Given the description of an element on the screen output the (x, y) to click on. 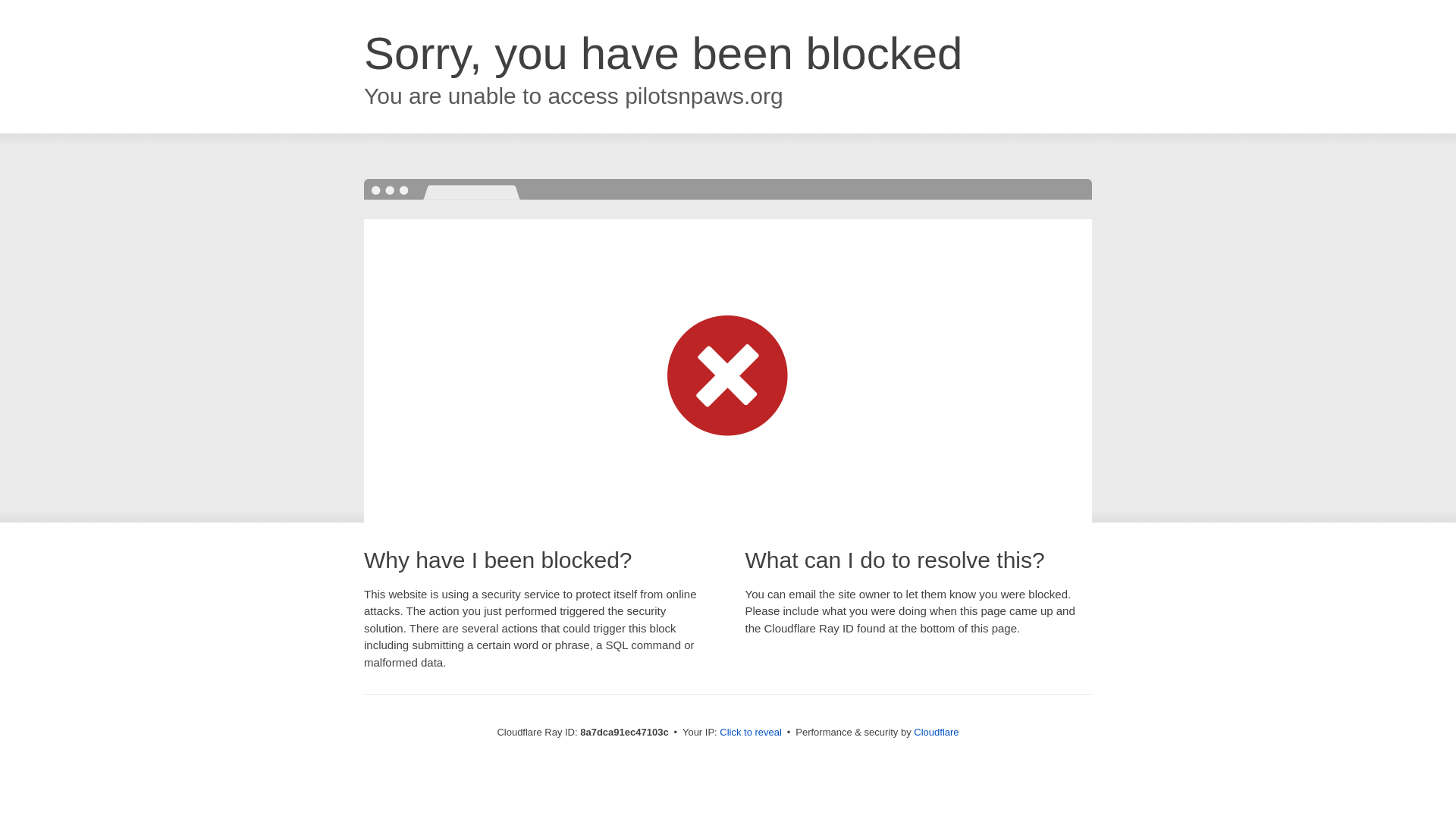
Click to reveal (750, 732)
Cloudflare (936, 731)
